Given the description of an element on the screen output the (x, y) to click on. 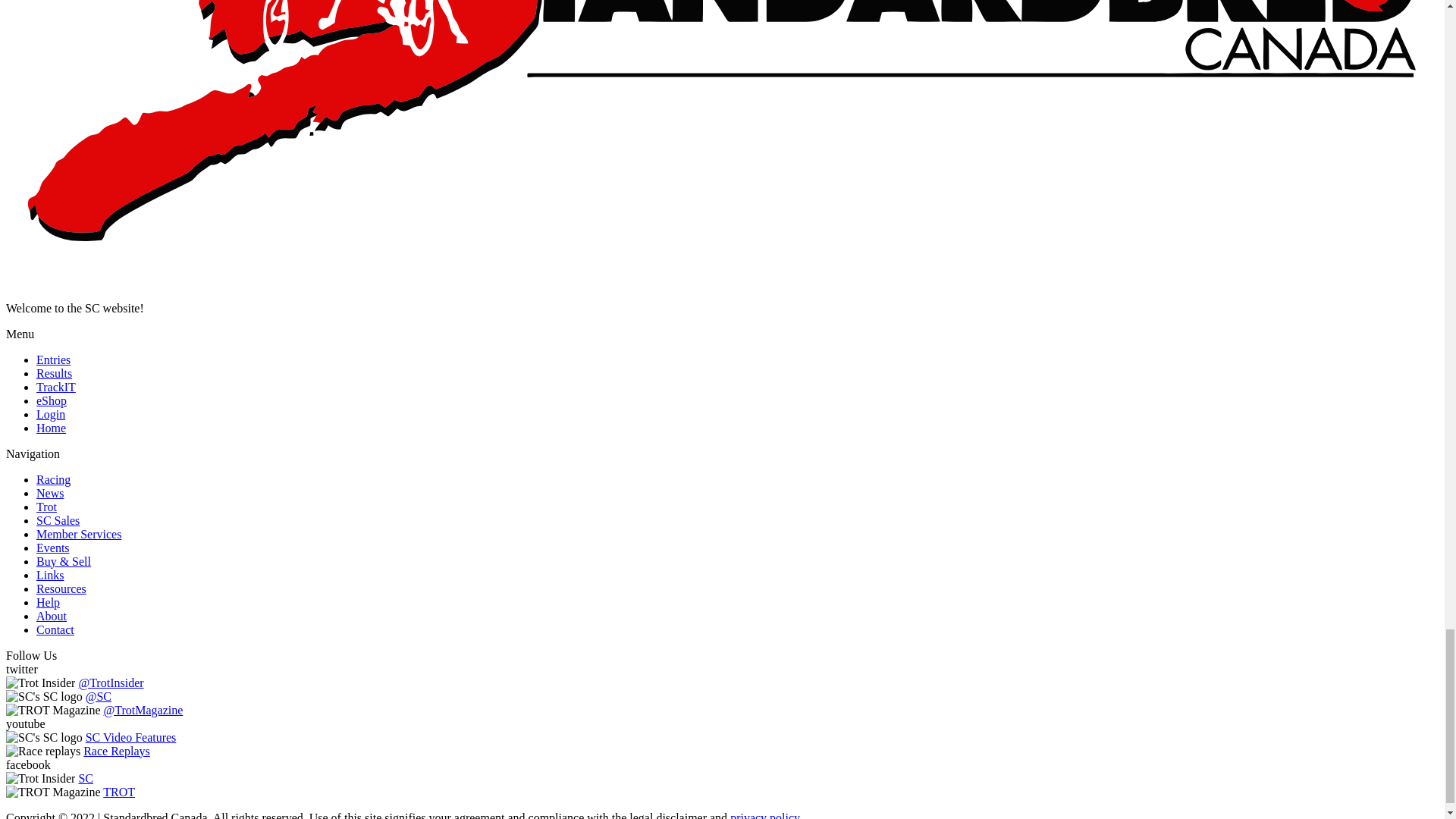
Homepage (50, 427)
